Given the description of an element on the screen output the (x, y) to click on. 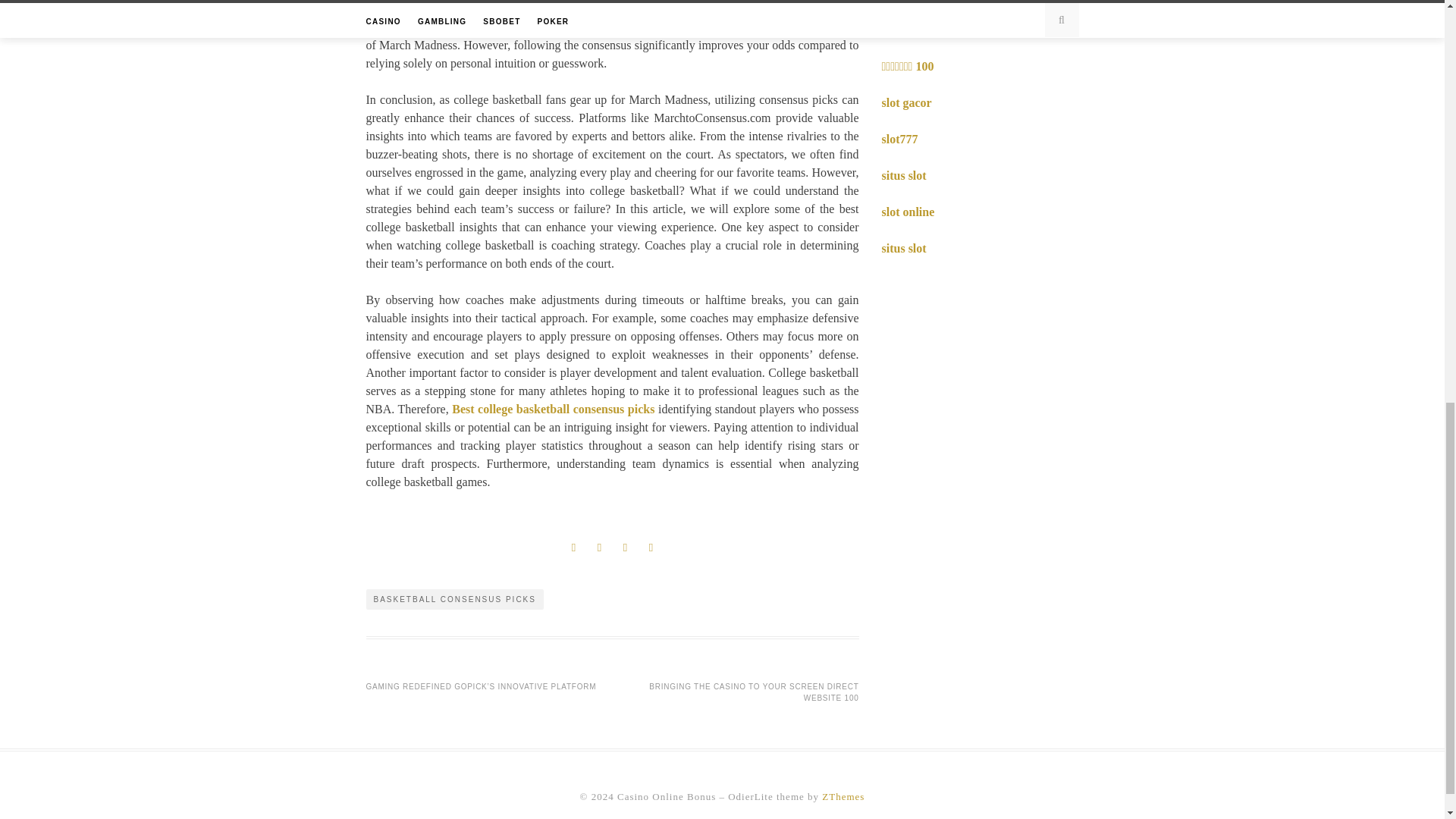
slot gacor (905, 102)
situs slot (903, 247)
BASKETBALL CONSENSUS PICKS (454, 598)
ZThemes (843, 796)
BRINGING THE CASINO TO YOUR SCREEN DIRECT WEBSITE 100 (754, 691)
slot online (907, 211)
situs slot (903, 174)
Best college basketball consensus picks (552, 408)
slot777 (898, 138)
